Given the description of an element on the screen output the (x, y) to click on. 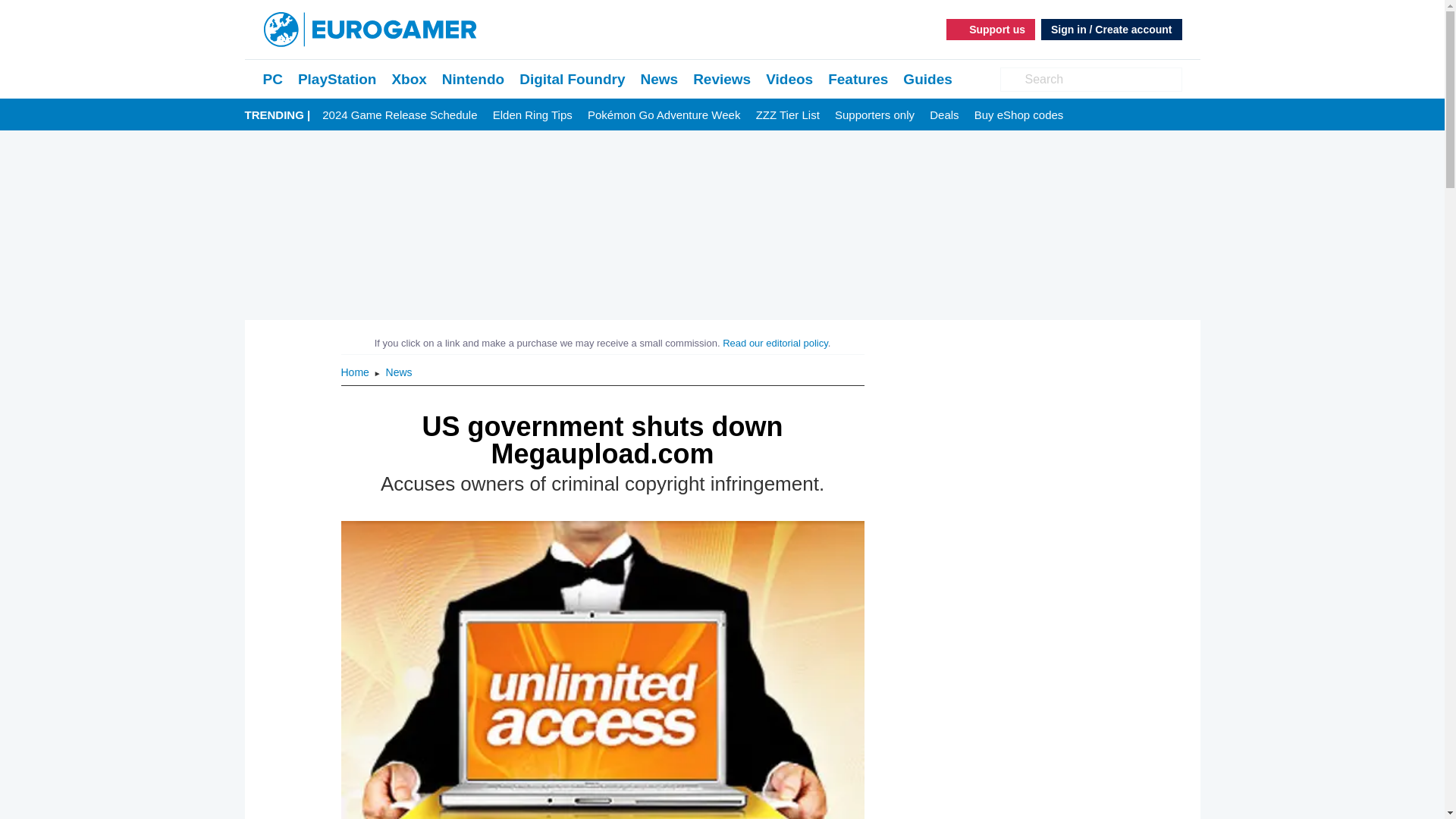
Nintendo (472, 78)
News (659, 78)
News (659, 78)
Deals (944, 114)
Xbox (408, 78)
Support us (990, 29)
Features (858, 78)
Buy eShop codes (1019, 114)
Reviews (722, 78)
Videos (788, 78)
